Given the description of an element on the screen output the (x, y) to click on. 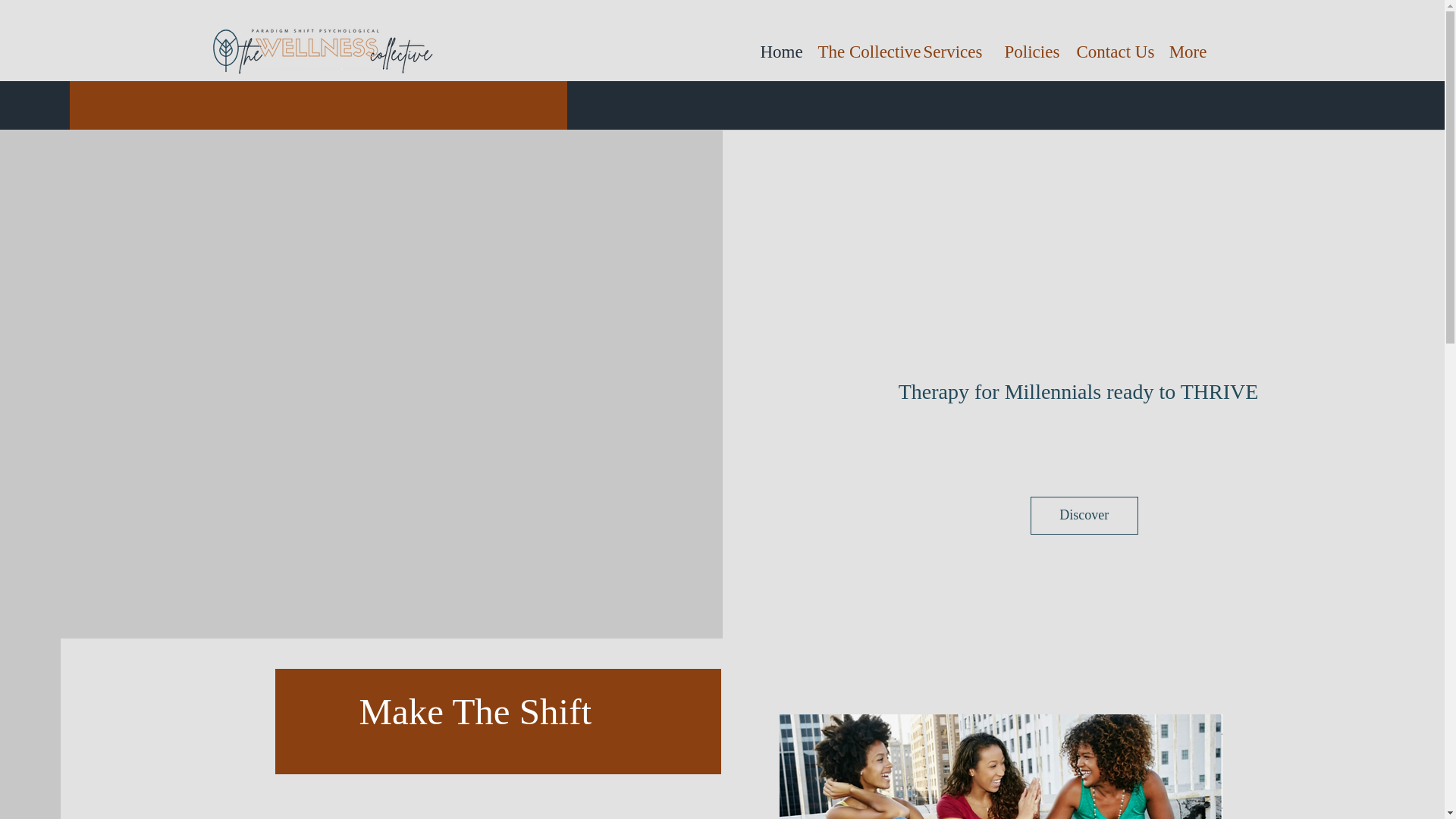
Discover (1084, 515)
The Collective (859, 52)
Home (777, 52)
Policies (1028, 52)
Contact Us (1110, 52)
Services (951, 52)
